Given the description of an element on the screen output the (x, y) to click on. 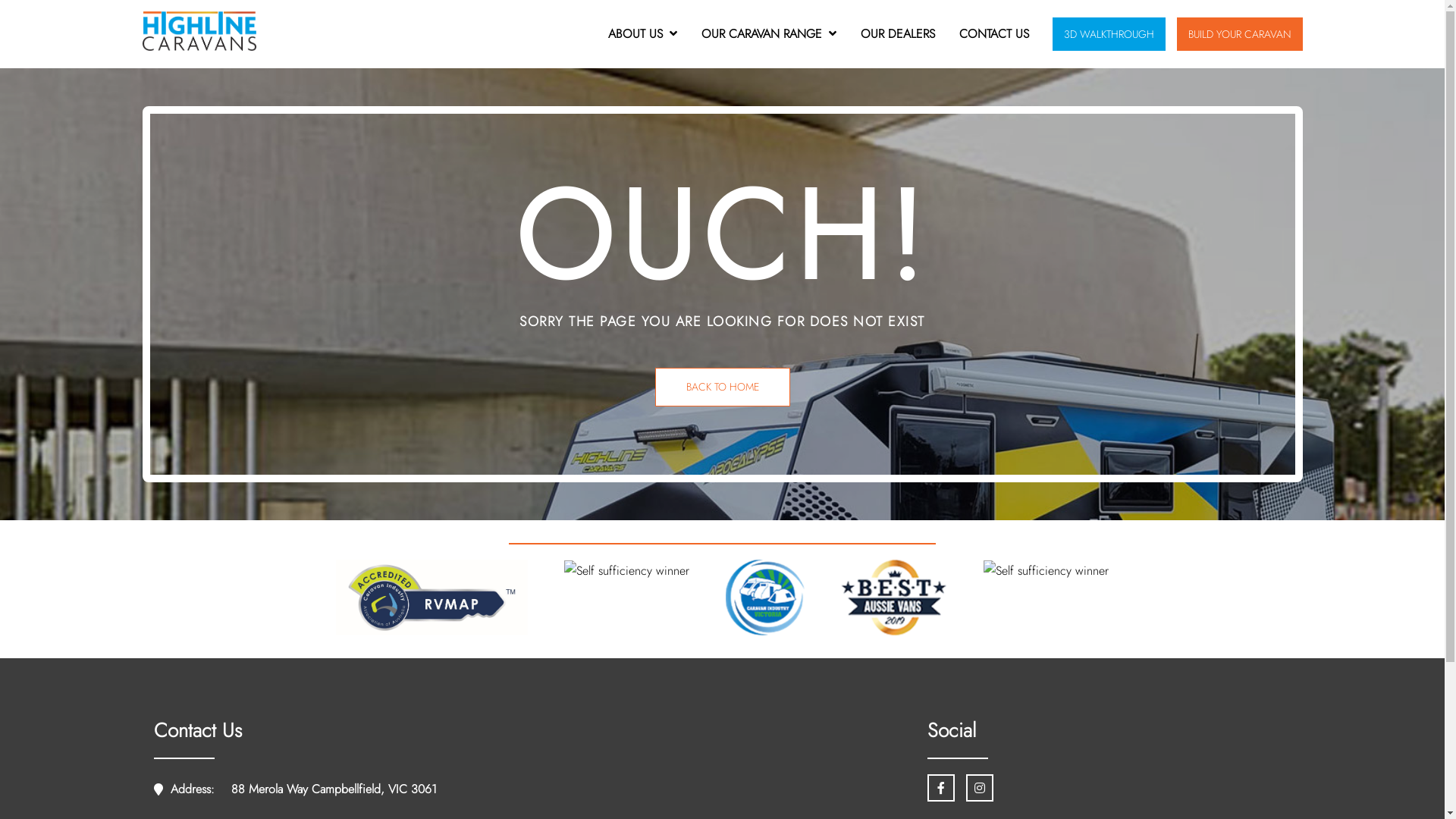
3D WALKTHROUGH Element type: text (1108, 33)
   Element type: text (939, 787)
BACK TO HOME Element type: text (722, 386)
   Element type: text (979, 787)
OUR DEALERS Element type: text (896, 33)
88 Merola Way Campbellfield, VIC 3061 Element type: text (333, 789)
ABOUT US Element type: text (642, 33)
OUR CARAVAN RANGE Element type: text (768, 33)
BUILD YOUR CARAVAN Element type: text (1239, 33)
CONTACT US Element type: text (993, 33)
